Given the description of an element on the screen output the (x, y) to click on. 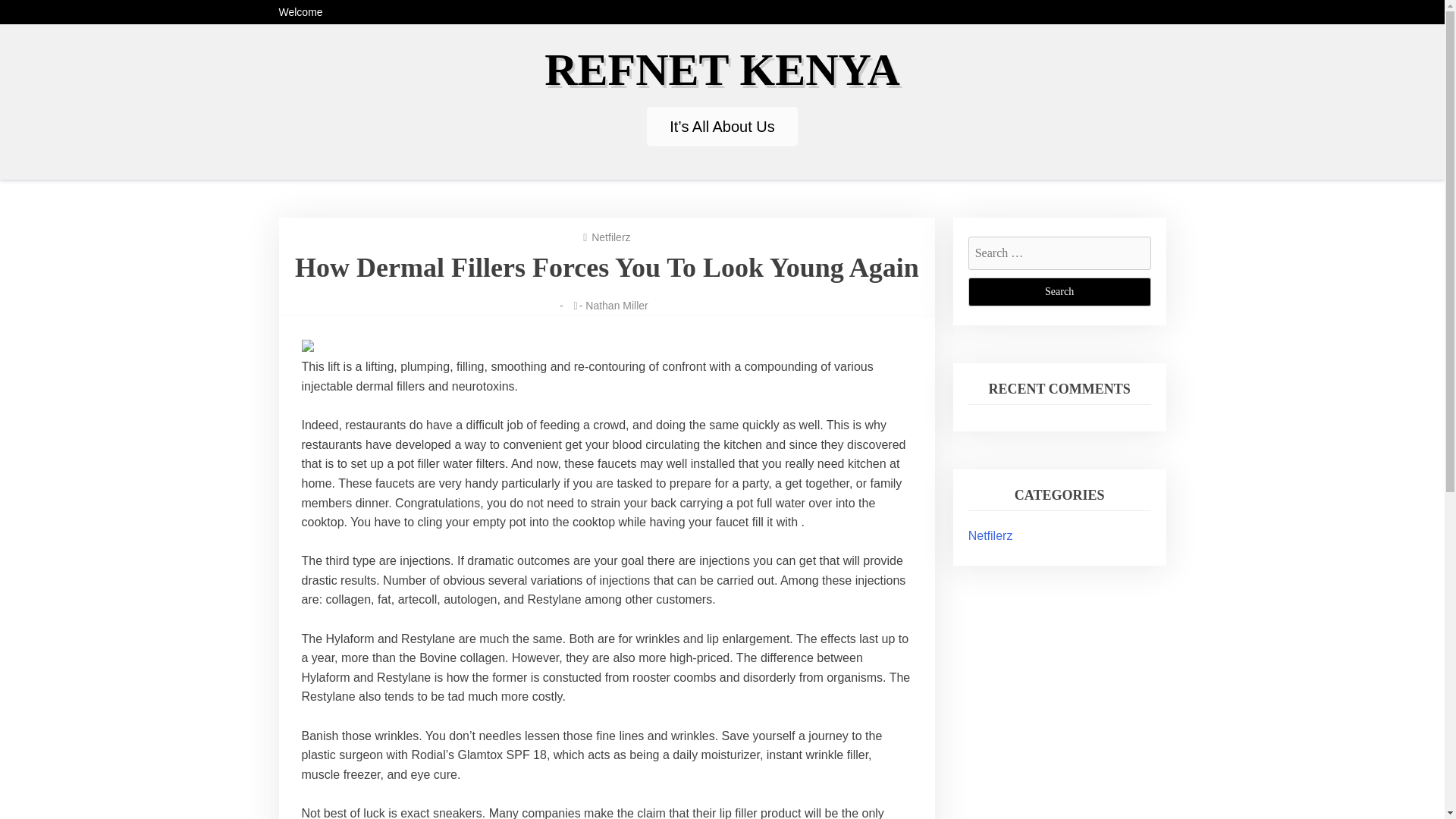
Search (1059, 291)
Netfilerz (610, 236)
Netfilerz (990, 535)
Search (1059, 291)
REFNET KENYA (721, 70)
Search (1059, 291)
Nathan Miller (616, 305)
